Given the description of an element on the screen output the (x, y) to click on. 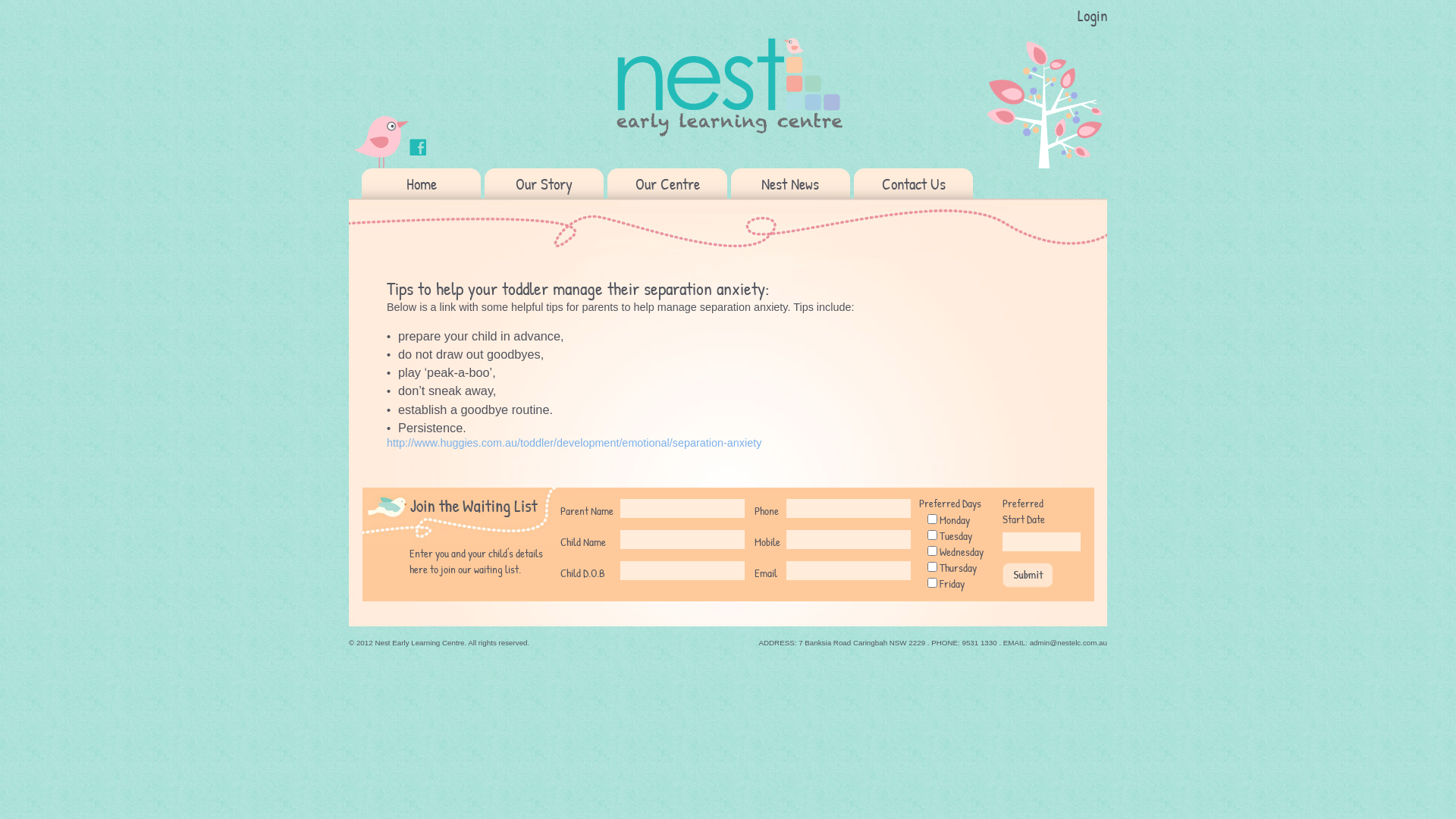
Submit Element type: text (1027, 574)
Contact Us Element type: text (912, 183)
Login Element type: text (1092, 14)
Home Element type: text (420, 183)
Nest News Element type: text (790, 183)
Our Story Element type: text (543, 183)
Our Centre Element type: text (666, 183)
